Given the description of an element on the screen output the (x, y) to click on. 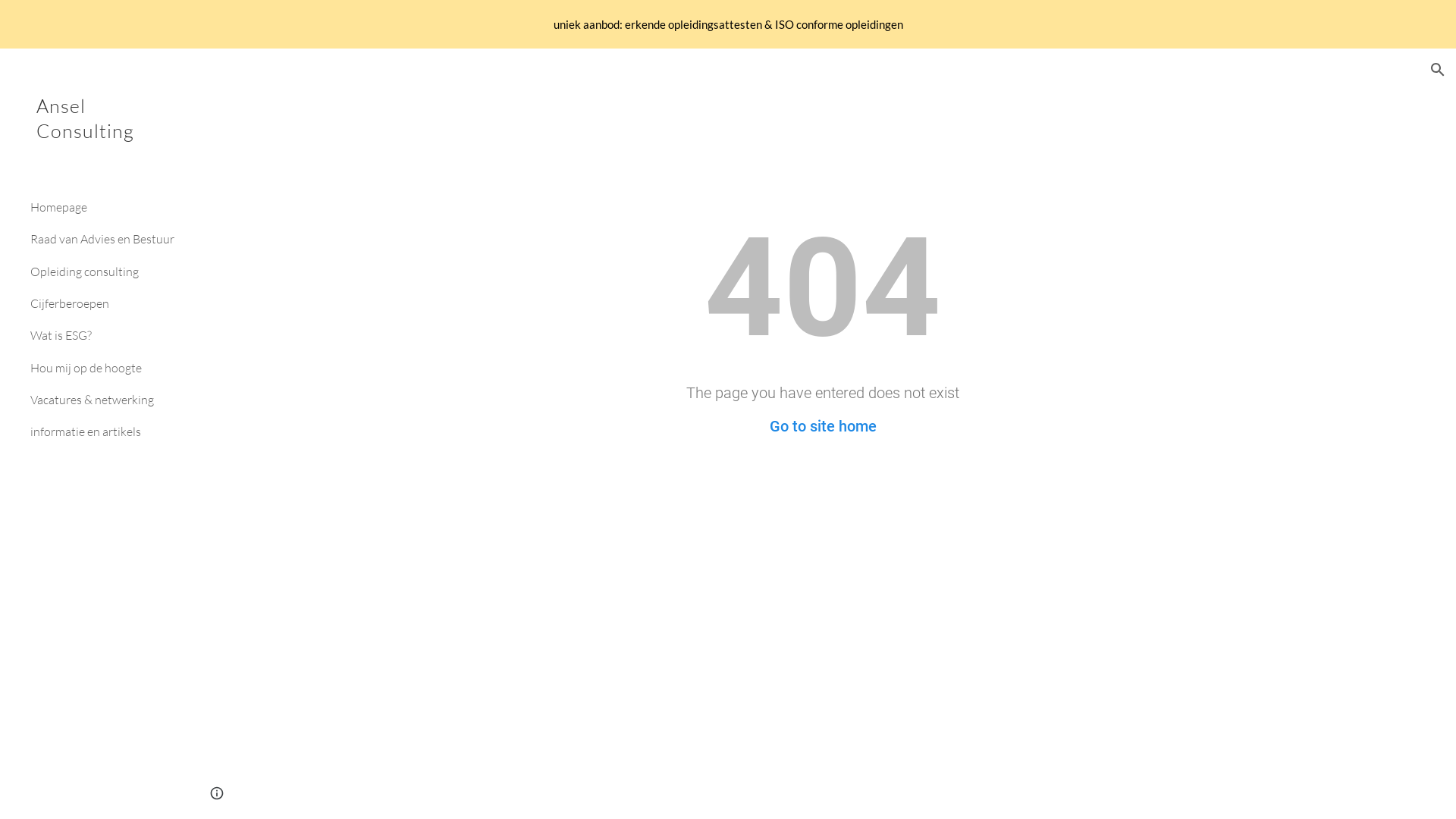
Opleiding consulting Element type: text (103, 271)
Go to site home Element type: text (821, 426)
Ansel Consulting Element type: text (94, 137)
Cijferberoepen Element type: text (103, 303)
Raad van Advies en Bestuur Element type: text (103, 239)
Homepage Element type: text (103, 206)
informatie en artikels Element type: text (103, 432)
Wat is ESG? Element type: text (103, 335)
Hou mij op de hoogte Element type: text (103, 367)
Vacatures & netwerking Element type: text (103, 399)
